Given the description of an element on the screen output the (x, y) to click on. 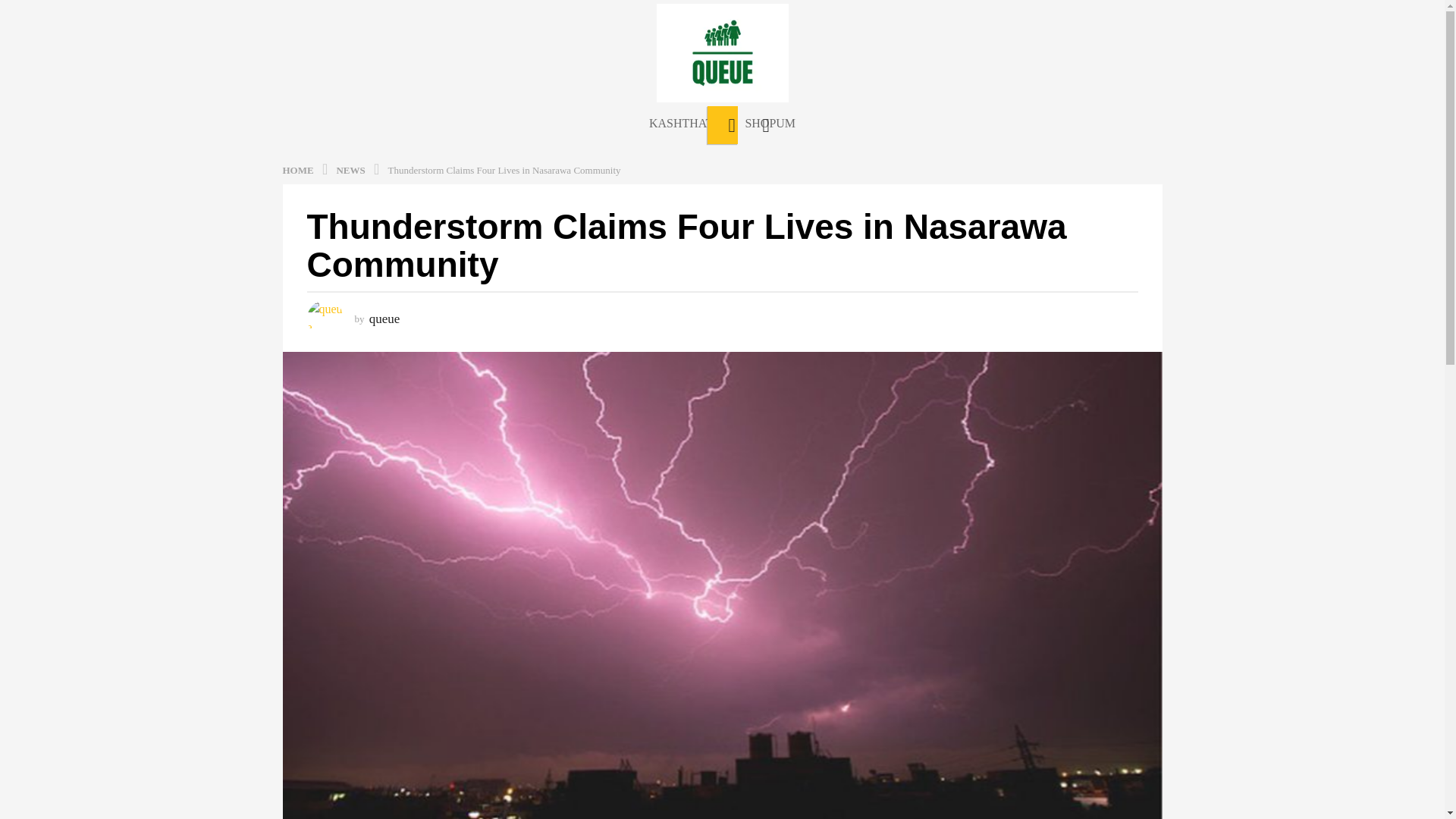
KASHTHAT (680, 123)
Thunderstorm Claims Four Lives in Nasarawa Community (504, 168)
NEWS (352, 168)
SHOPUM (769, 123)
queue (384, 318)
HOME (298, 168)
